Given the description of an element on the screen output the (x, y) to click on. 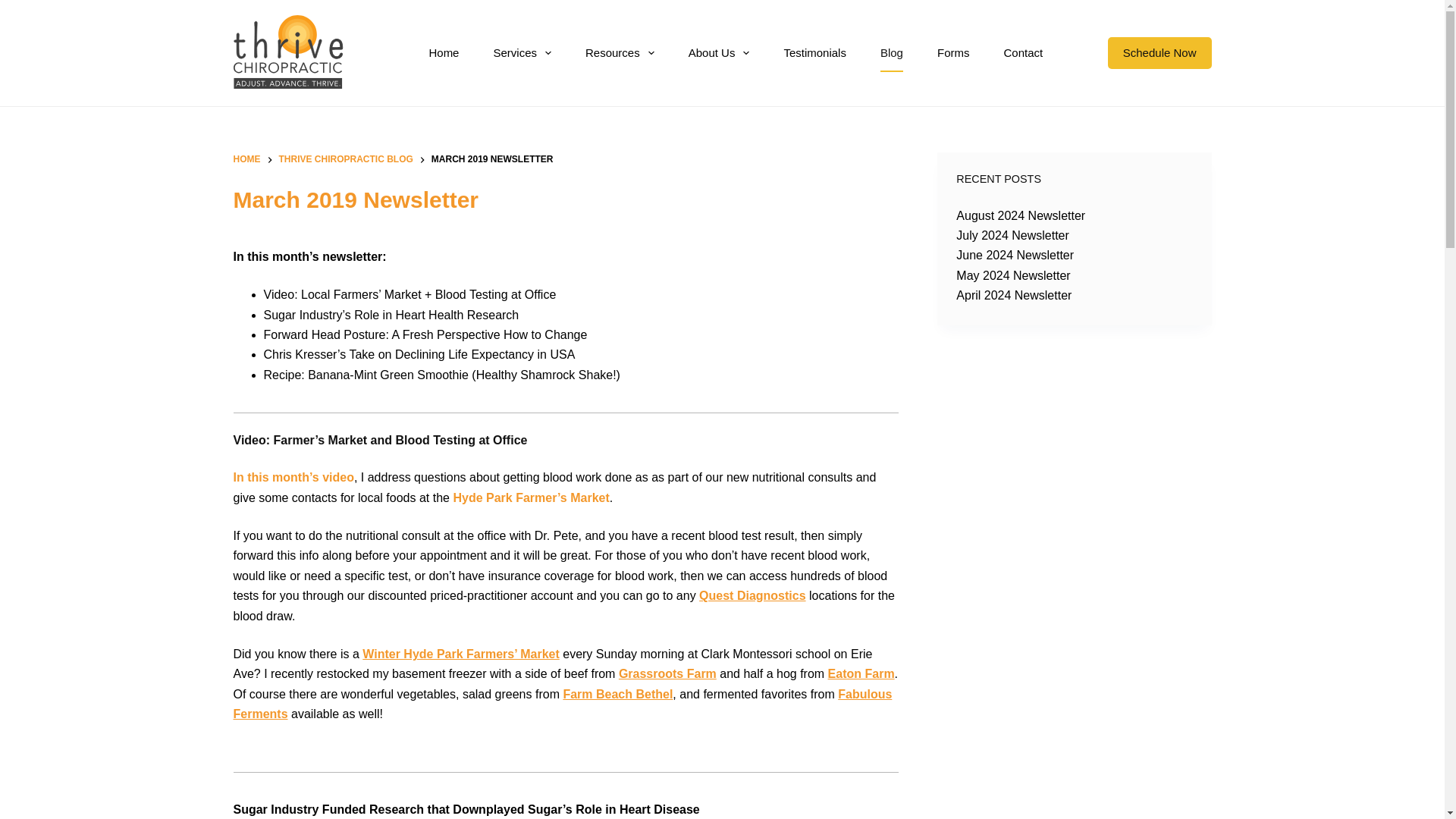
Services (522, 53)
Home (444, 53)
Skip to content (15, 7)
March 2019 Newsletter (565, 199)
